Given the description of an element on the screen output the (x, y) to click on. 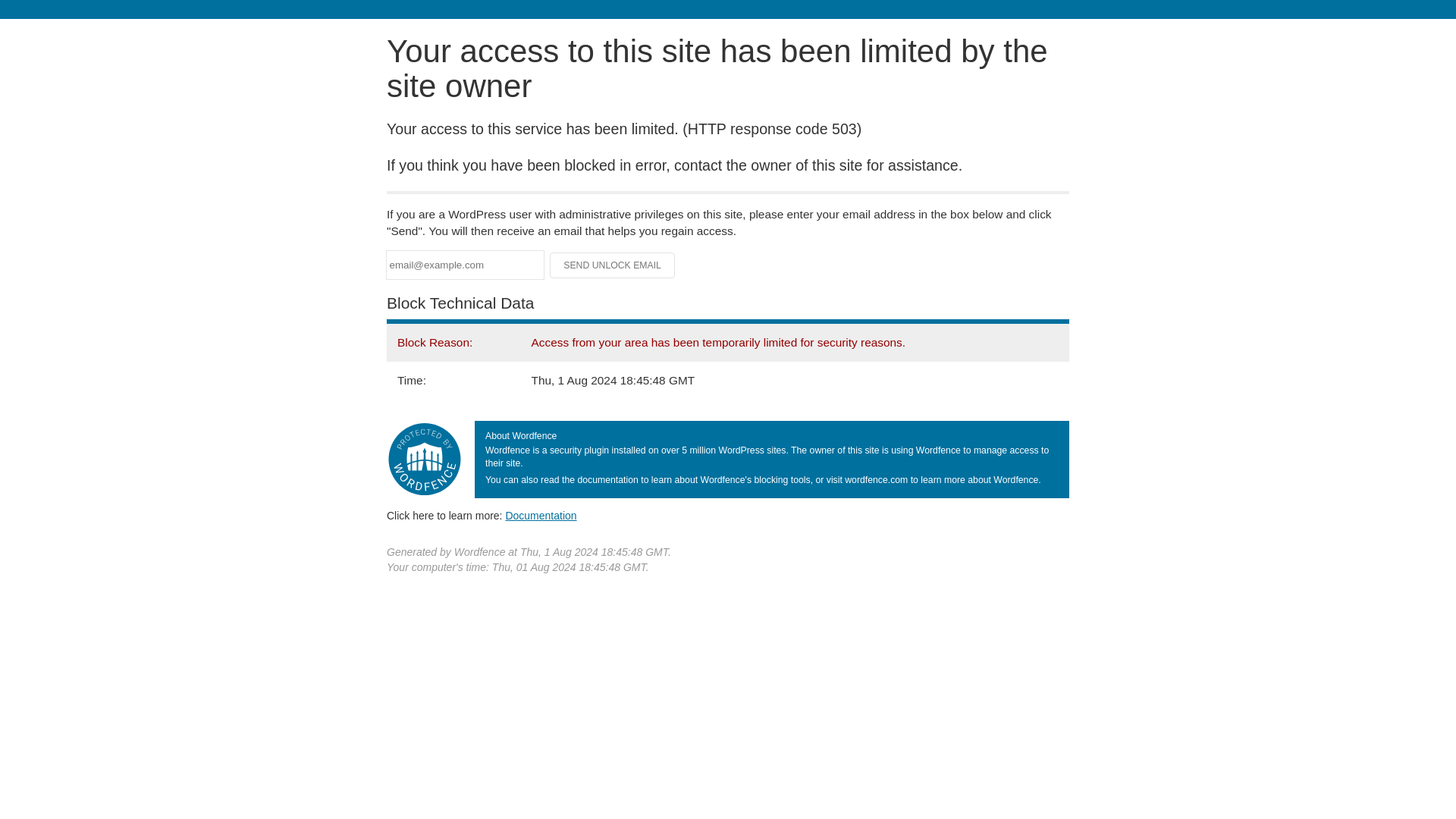
Send Unlock Email (612, 265)
Send Unlock Email (612, 265)
Documentation (540, 515)
